Given the description of an element on the screen output the (x, y) to click on. 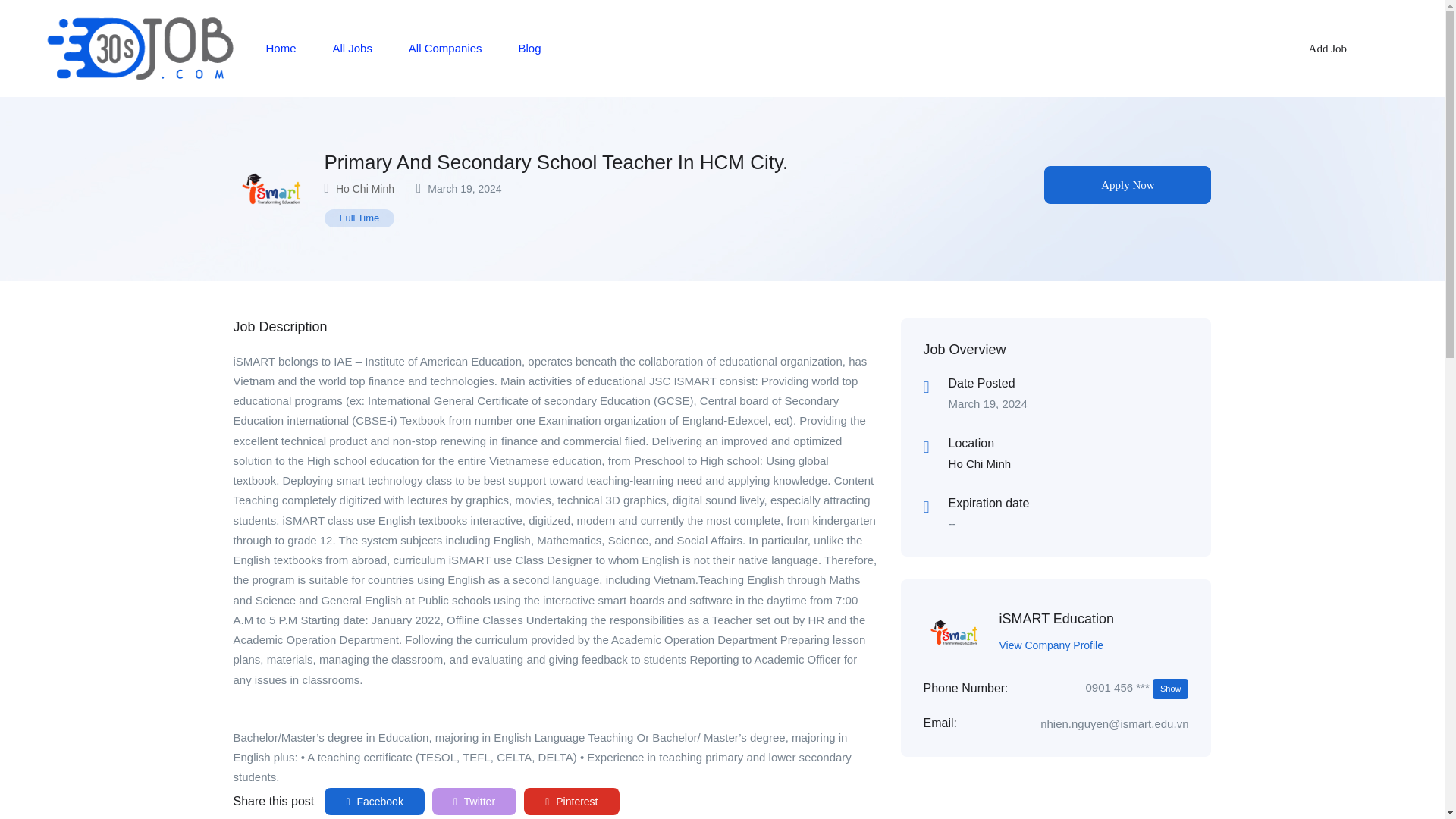
Ho Chi Minh (365, 188)
All Companies (445, 48)
Twitter (474, 801)
All Jobs (351, 48)
Pinterest (571, 801)
Add Job (1327, 48)
Facebook (374, 801)
Full Time (359, 218)
Apply Now (1127, 184)
